Given the description of an element on the screen output the (x, y) to click on. 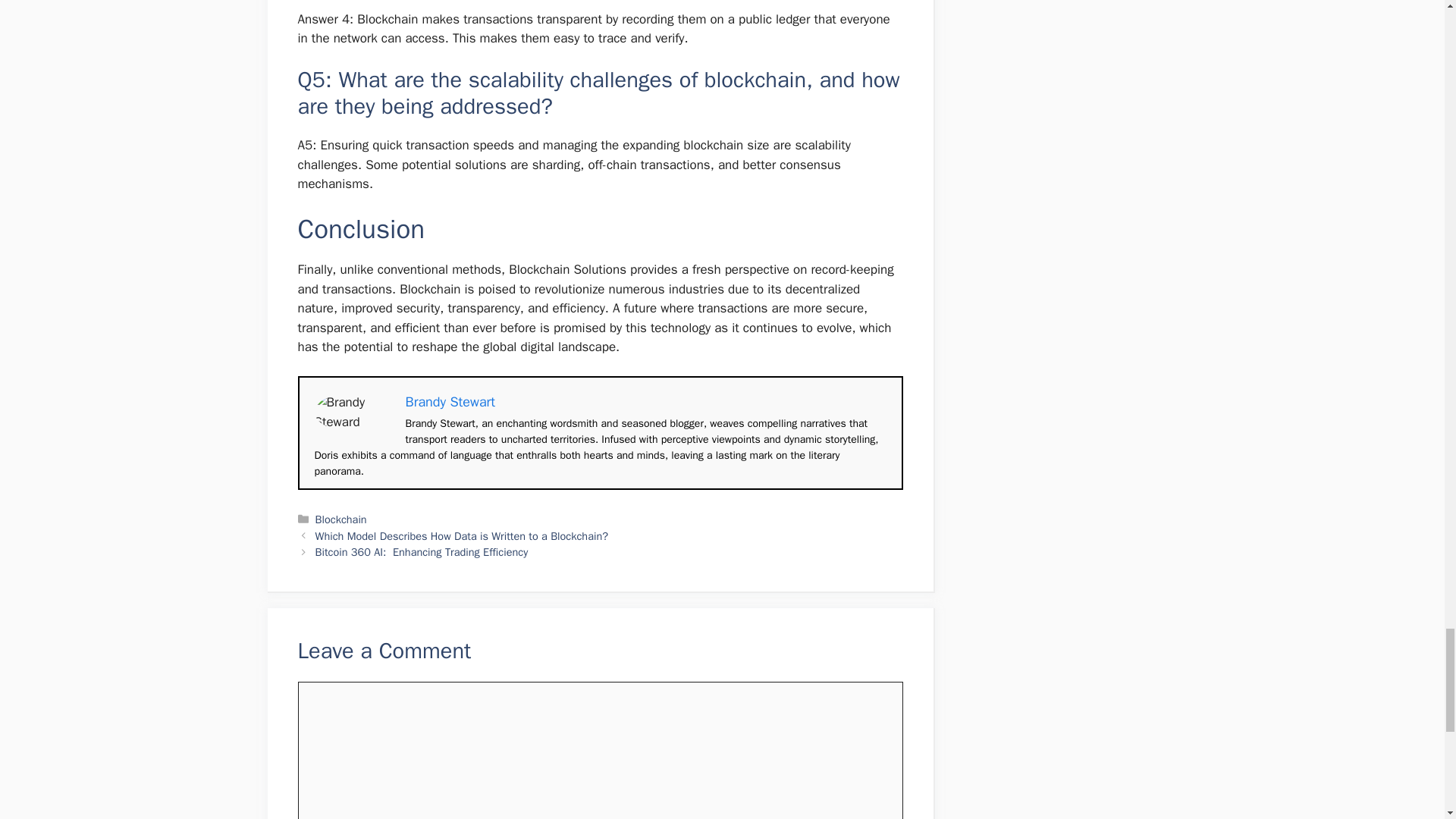
Brandy Stewart (449, 401)
Blockchain (340, 519)
Which Model Describes How Data is Written to a Blockchain? (461, 535)
Bitcoin 360 AI:  Enhancing Trading Efficiency (421, 551)
